Given the description of an element on the screen output the (x, y) to click on. 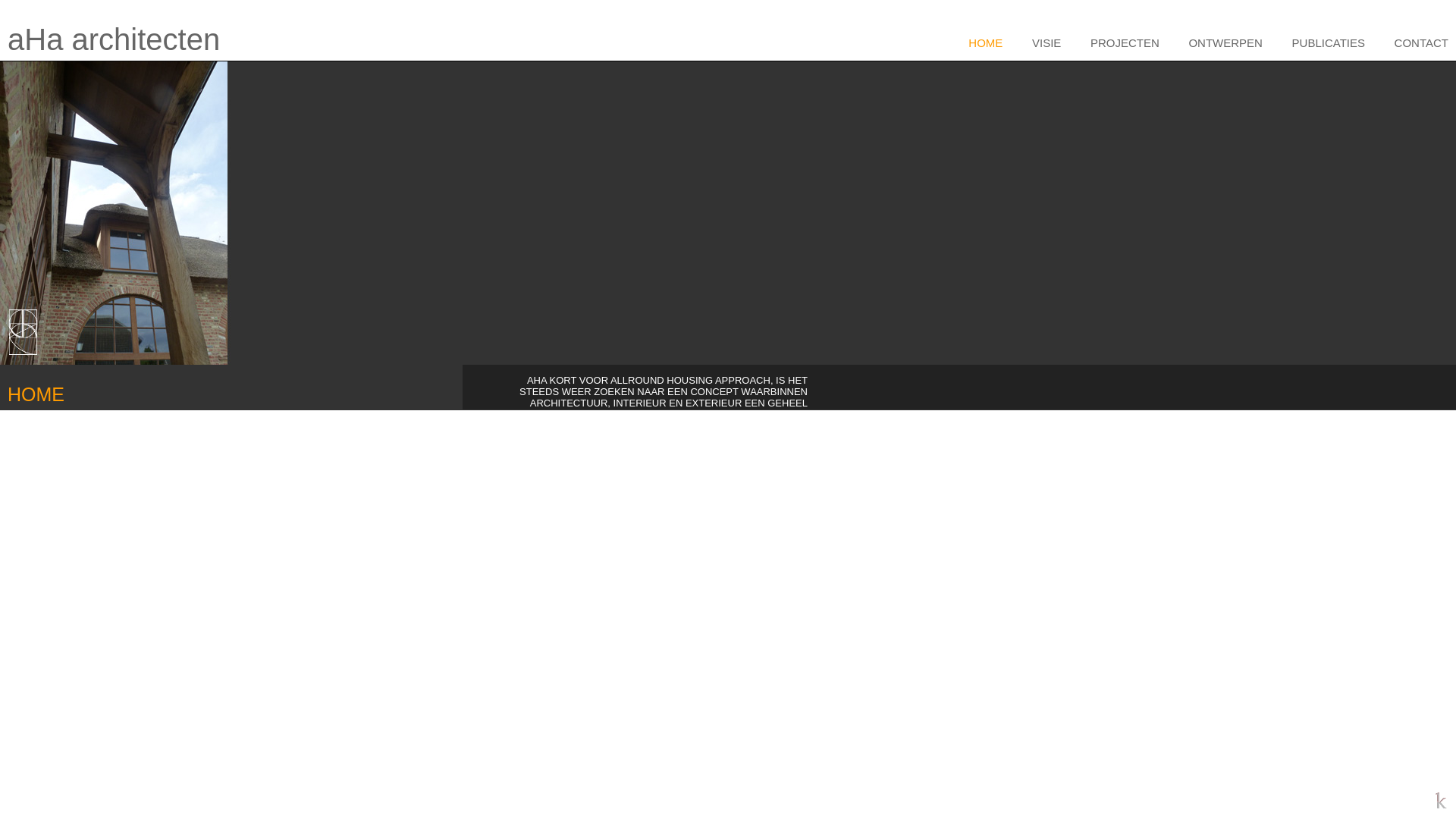
ONTWERPEN Element type: text (1217, 42)
CONTACT Element type: text (1413, 42)
VISIE Element type: text (1038, 42)
HOME Element type: text (977, 42)
PUBLICATIES Element type: text (1321, 42)
PROJECTEN Element type: text (1117, 42)
